Given the description of an element on the screen output the (x, y) to click on. 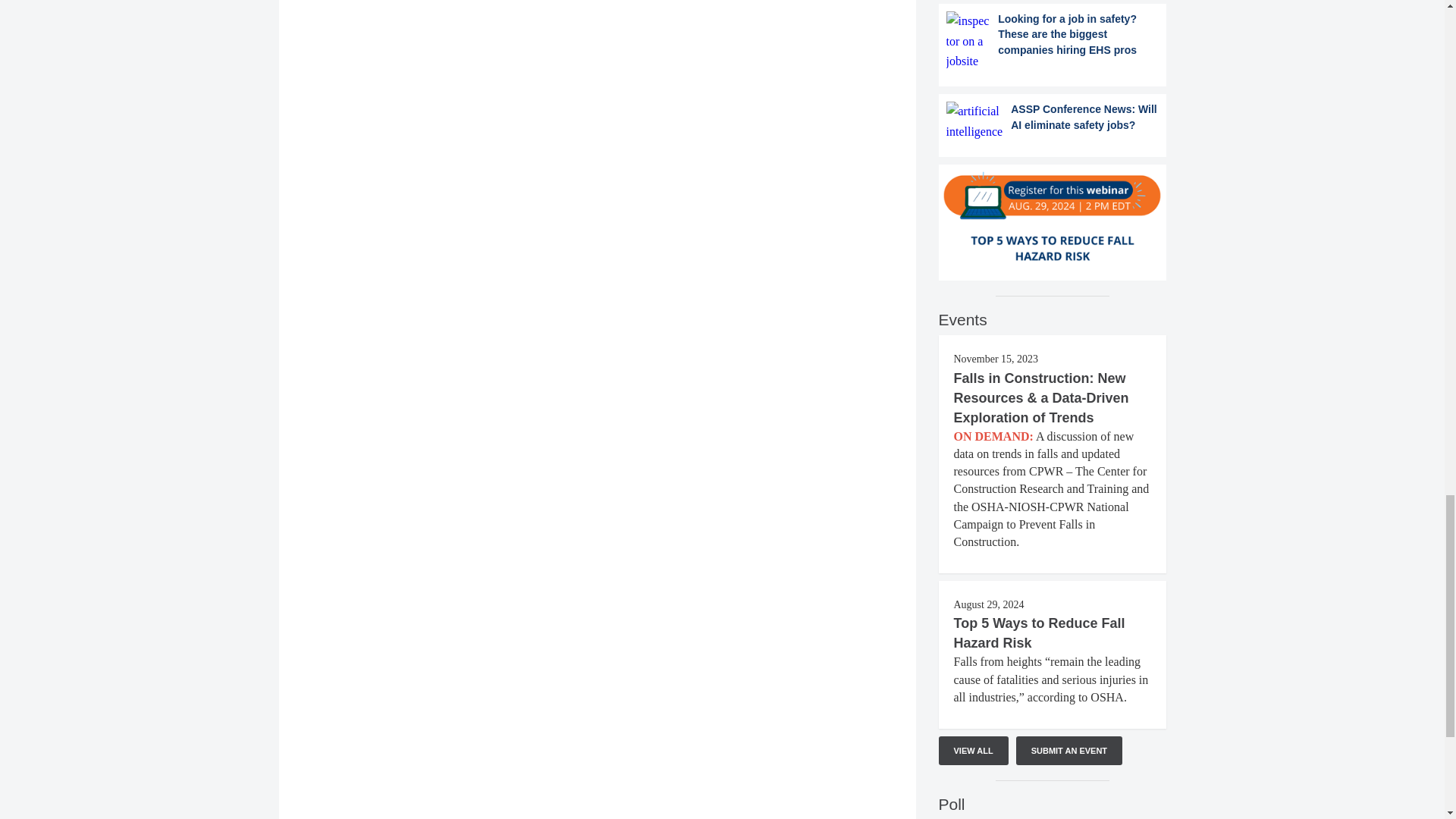
Top 5 Ways to Reduce Fall Hazard Risk (1039, 632)
ASSP Conference News: Will AI eliminate safety jobs? (1052, 121)
